Given the description of an element on the screen output the (x, y) to click on. 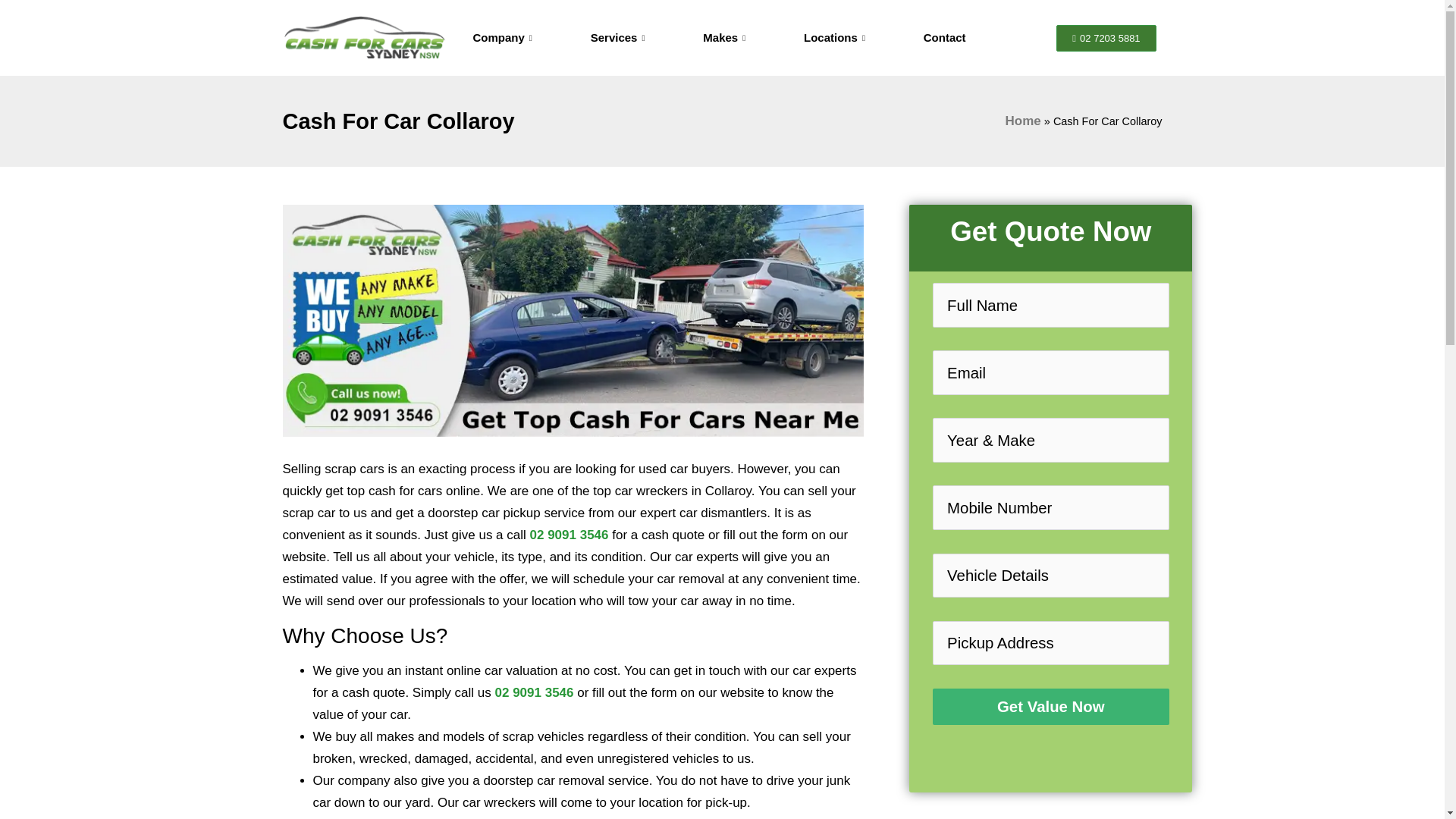
Makes (725, 37)
Company (504, 37)
Get Value Now (1051, 706)
Home (1023, 120)
Services (620, 37)
02 9091 3546 (534, 692)
02 9091 3546 (568, 534)
Locations (836, 37)
02 7203 5881 (1106, 37)
Contact (944, 37)
